Given the description of an element on the screen output the (x, y) to click on. 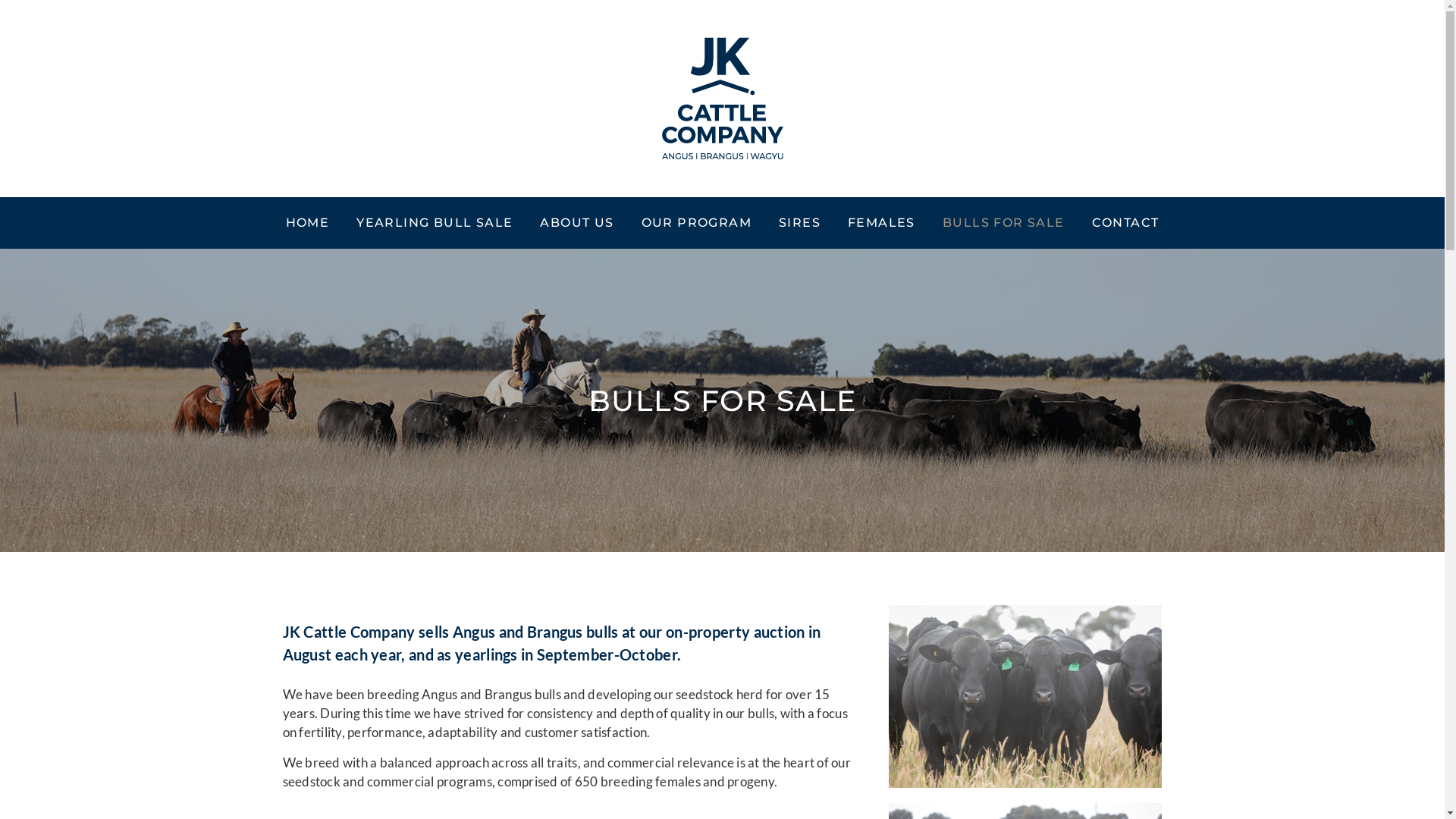
OUR PROGRAM Element type: text (696, 222)
ABOUT US Element type: text (576, 222)
SIRES Element type: text (799, 222)
Brangus Bulls Element type: hover (1024, 696)
CONTACT Element type: text (1125, 222)
BULLS FOR SALE Element type: text (1003, 222)
HOME Element type: text (307, 222)
FEMALES Element type: text (881, 222)
YEARLING BULL SALE Element type: text (434, 222)
